Given the description of an element on the screen output the (x, y) to click on. 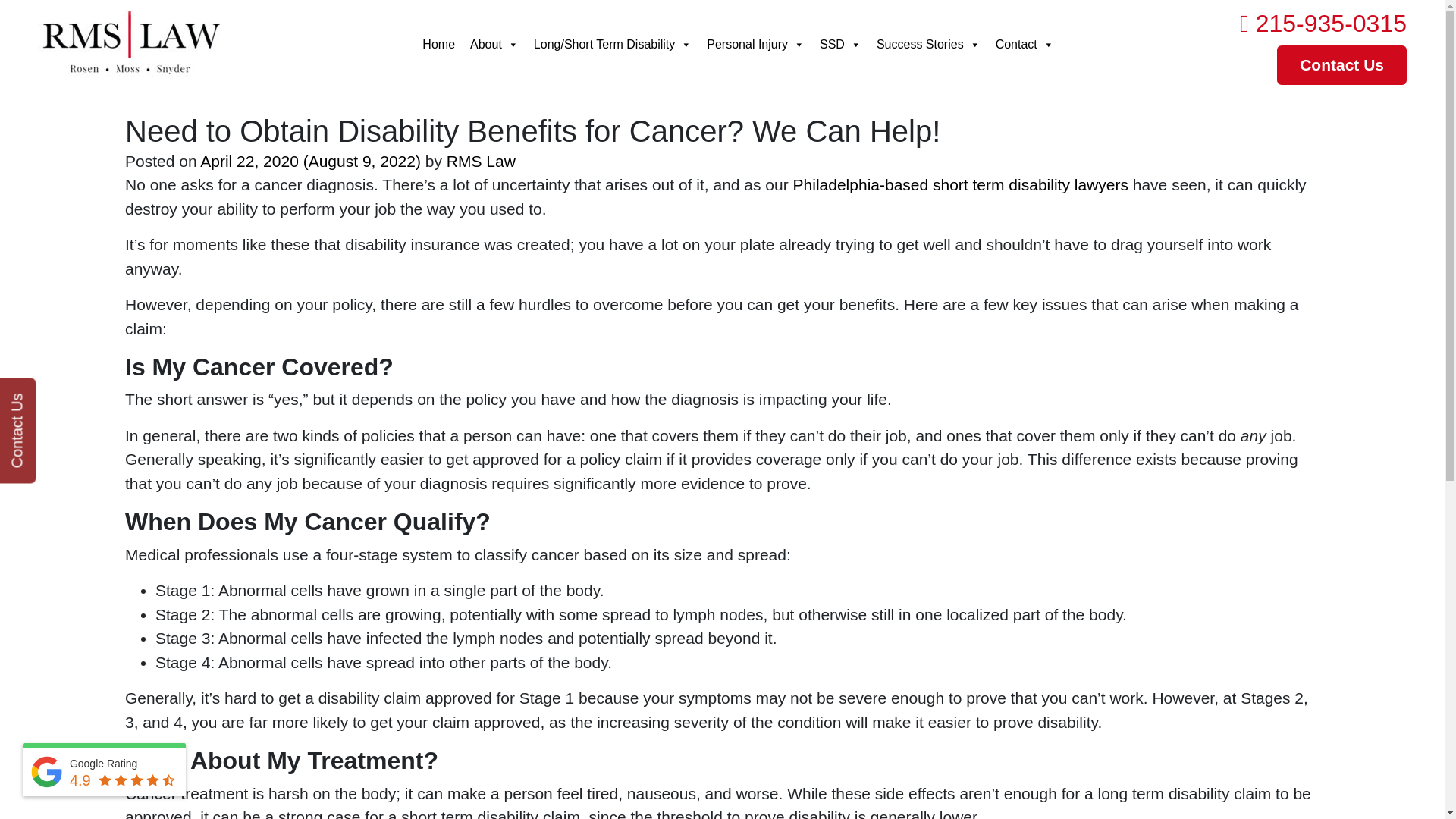
SSD (840, 44)
About (494, 44)
Home (438, 44)
Personal Injury (755, 44)
Success Stories (928, 44)
